Given the description of an element on the screen output the (x, y) to click on. 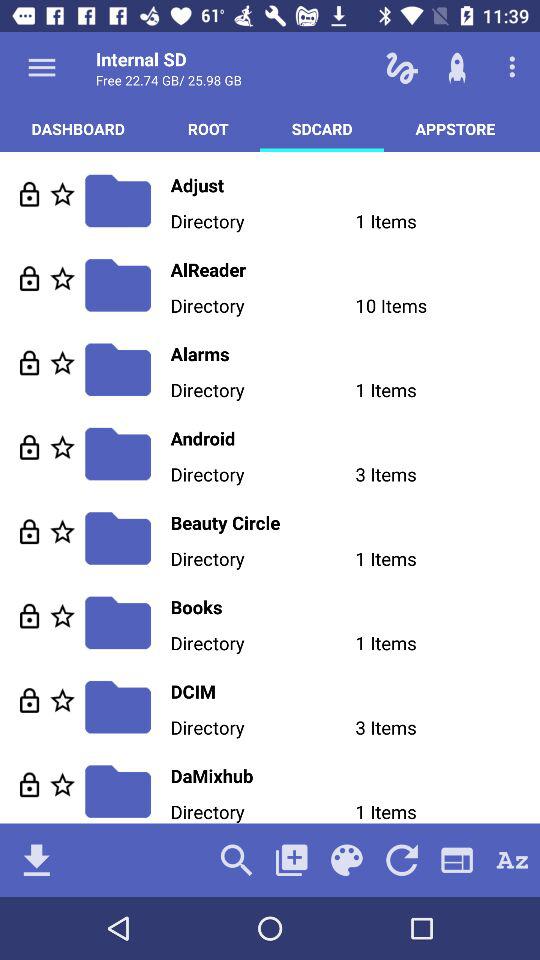
choose sdcard item (322, 128)
